Given the description of an element on the screen output the (x, y) to click on. 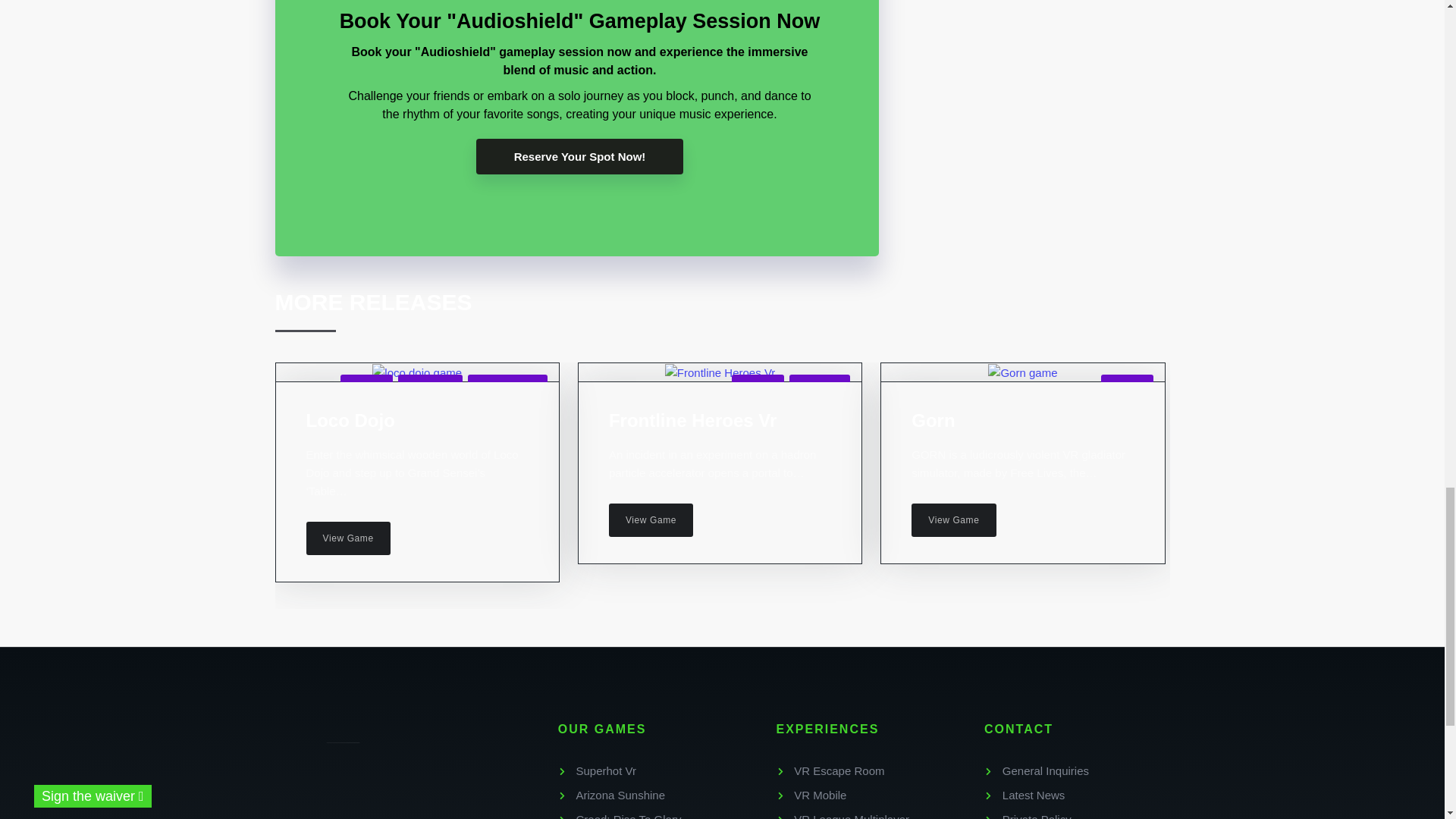
Loco Dojo (349, 420)
MULTIPLAYER (507, 386)
Reserve Your Spot Now! (580, 156)
ACTION (365, 386)
View Game (347, 538)
FEATURED (430, 386)
